Given the description of an element on the screen output the (x, y) to click on. 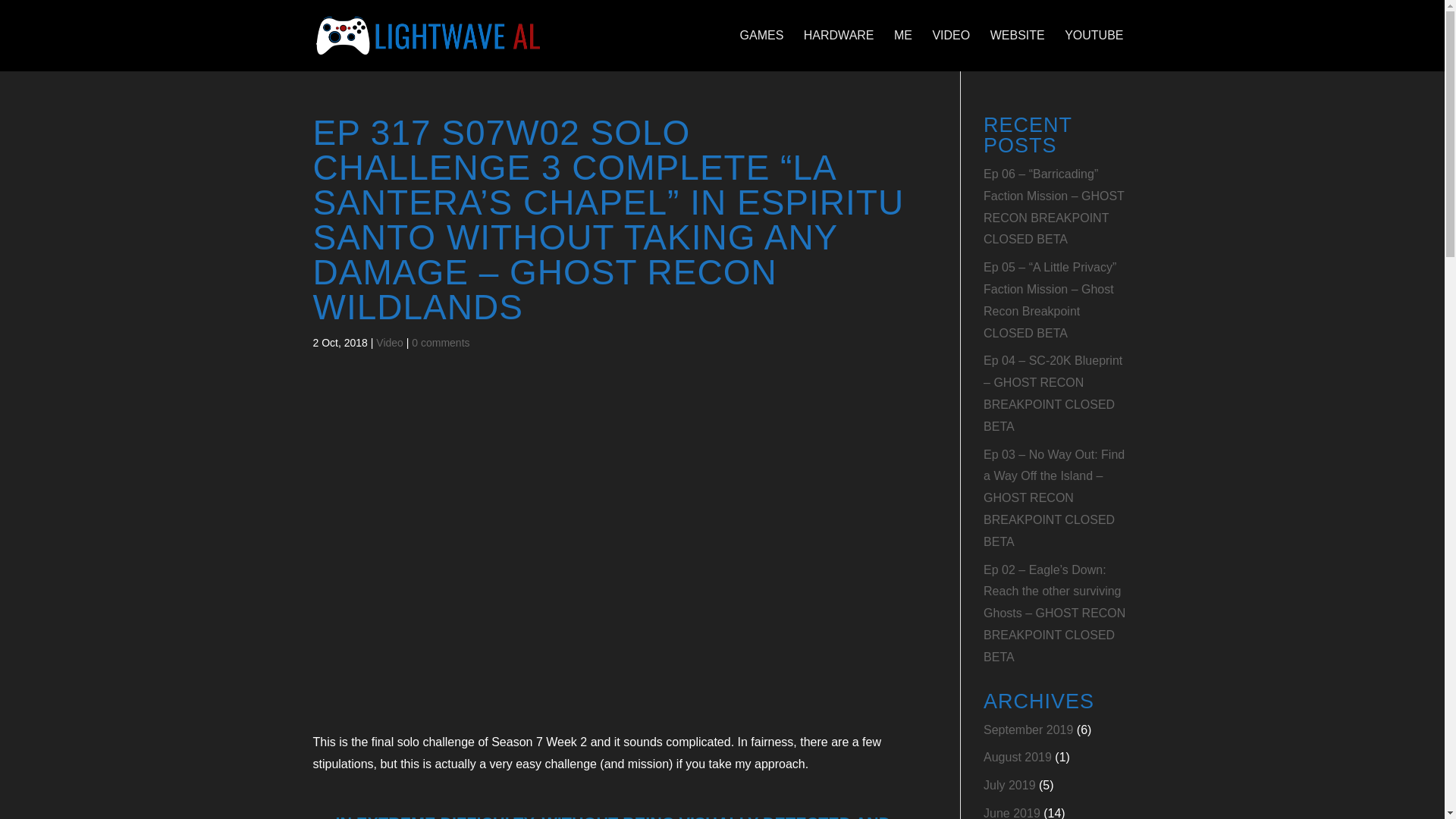
HARDWARE (838, 35)
WEBSITE (1016, 35)
0 comments (440, 342)
July 2019 (1009, 784)
Video (389, 342)
YOUTUBE (1094, 35)
August 2019 (1017, 757)
September 2019 (1028, 729)
June 2019 (1012, 812)
